Given the description of an element on the screen output the (x, y) to click on. 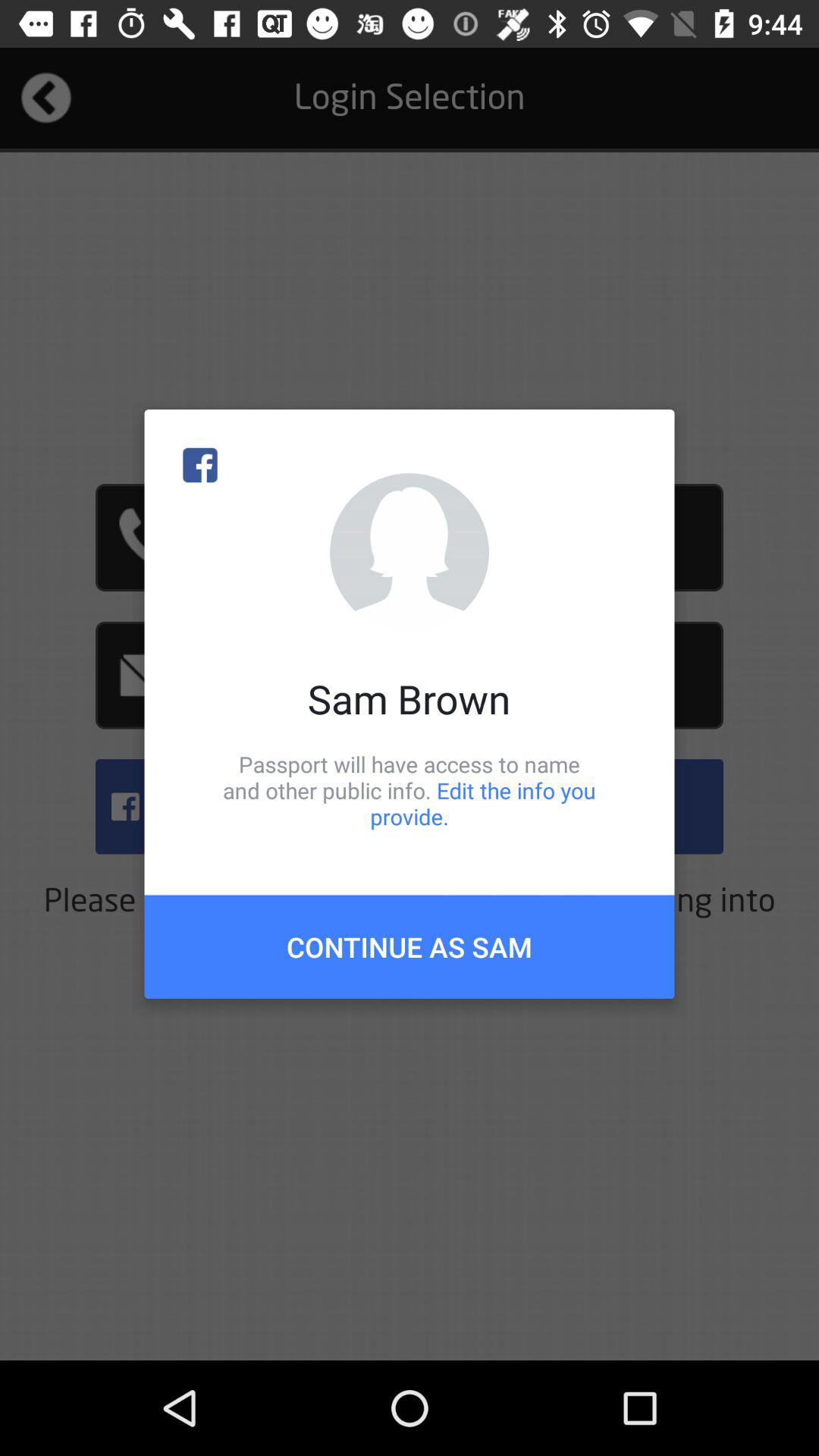
swipe until the passport will have icon (409, 790)
